Given the description of an element on the screen output the (x, y) to click on. 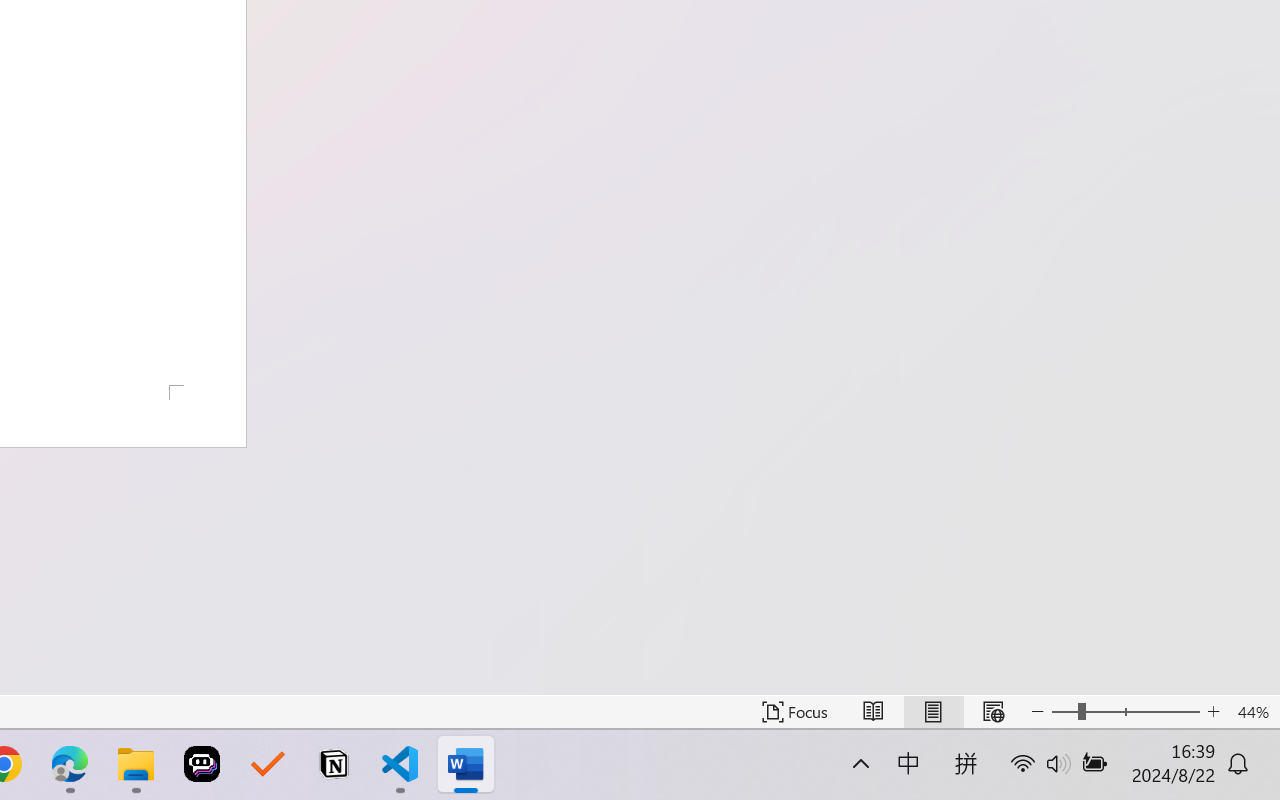
Read more about making documents accessible (1156, 157)
Additional Information (1152, 118)
Zoom 59% (1236, 743)
Cancel (51, 80)
